Given the description of an element on the screen output the (x, y) to click on. 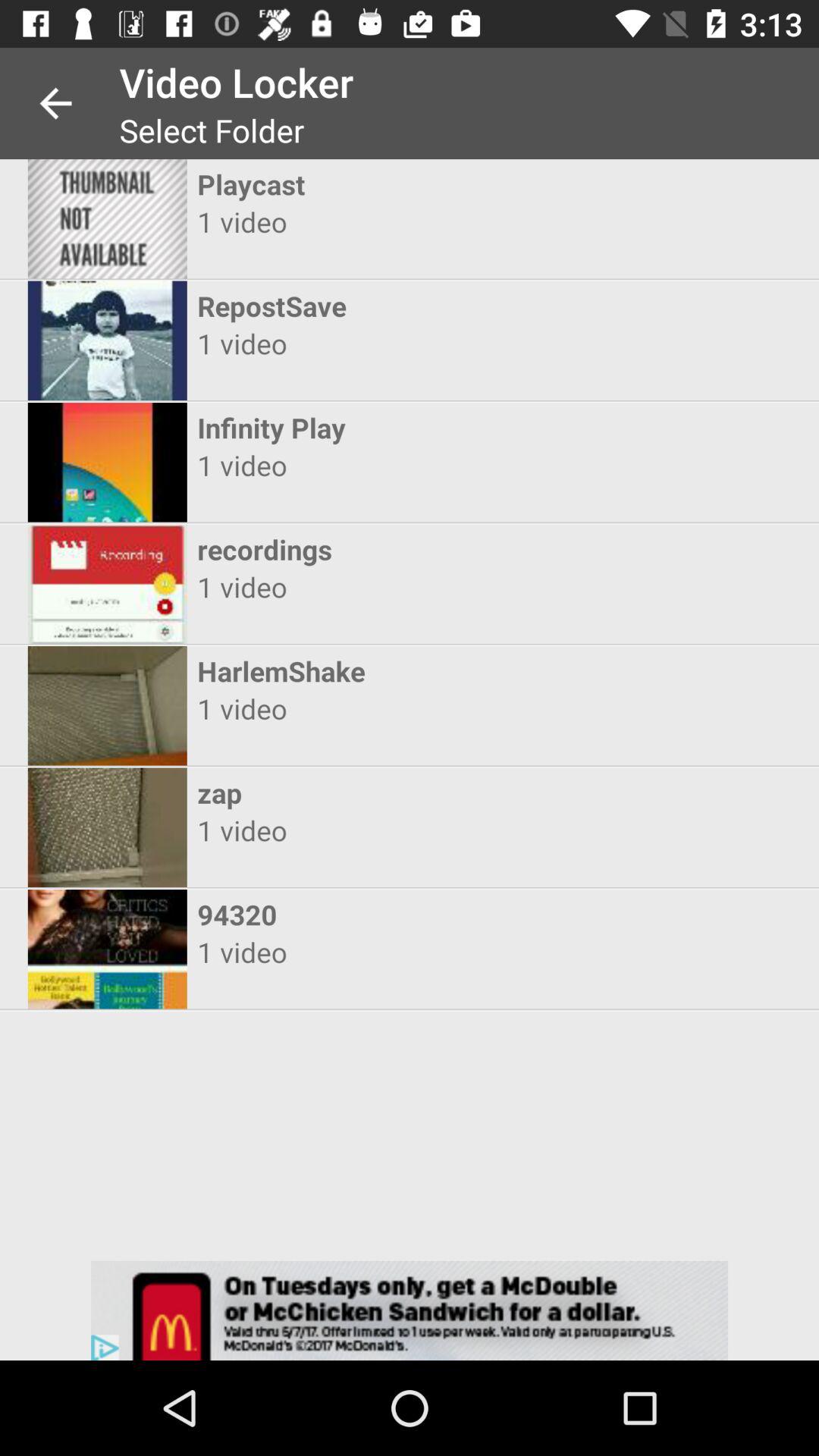
click the icon above 1 video item (396, 914)
